Given the description of an element on the screen output the (x, y) to click on. 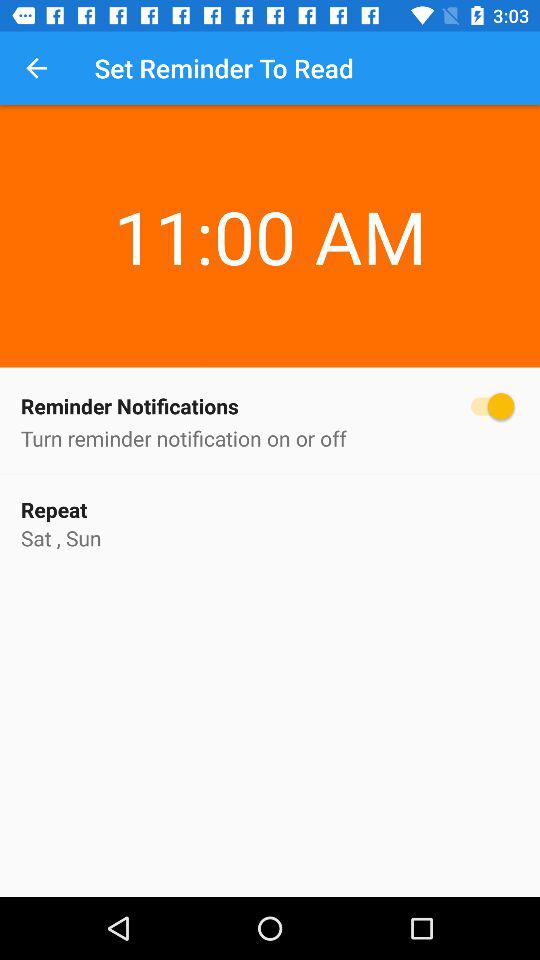
turn off item next to the set reminder to item (36, 68)
